Given the description of an element on the screen output the (x, y) to click on. 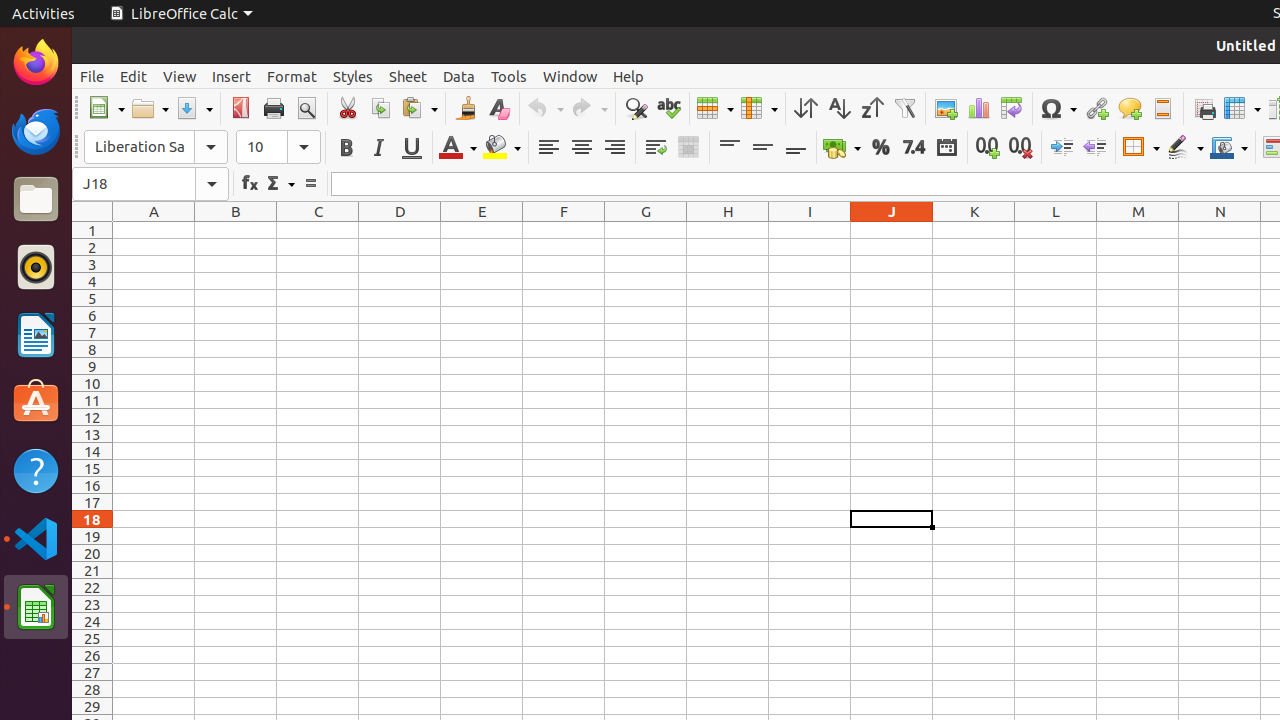
Clone Element type: push-button (465, 108)
Find & Replace Element type: toggle-button (635, 108)
Comment Element type: push-button (1129, 108)
Sort Element type: push-button (805, 108)
